Given the description of an element on the screen output the (x, y) to click on. 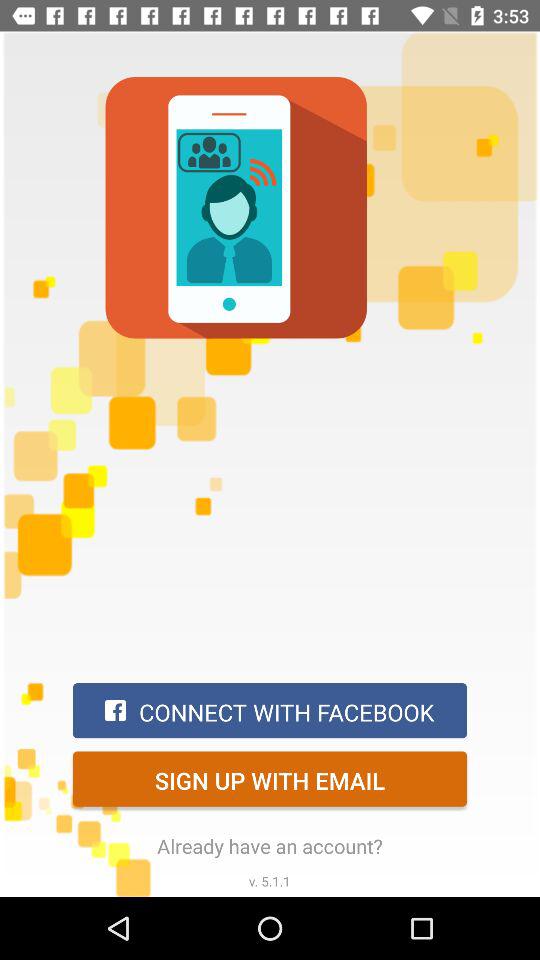
press the item below sign up with icon (270, 845)
